Given the description of an element on the screen output the (x, y) to click on. 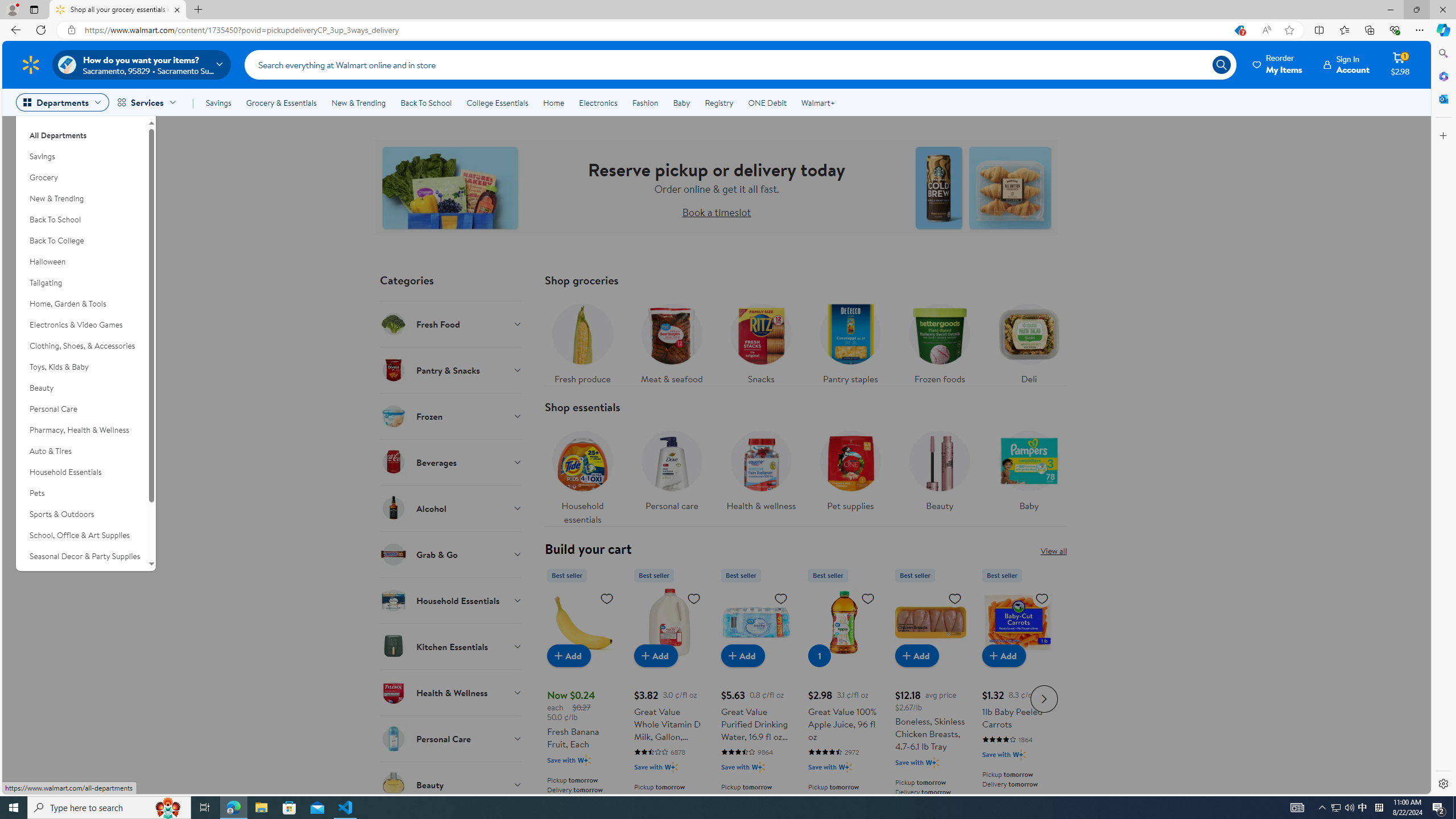
Meat & seafood (671, 340)
Health & Wellness (451, 692)
Cart contains 1 item Total Amount $2.98 (1399, 64)
Personal care (671, 467)
ONE Debit (767, 102)
Grocery (81, 177)
Pet supplies (850, 473)
This site has coupons! Shopping in Microsoft Edge, 7 (1239, 29)
Pets (81, 493)
